Given the description of an element on the screen output the (x, y) to click on. 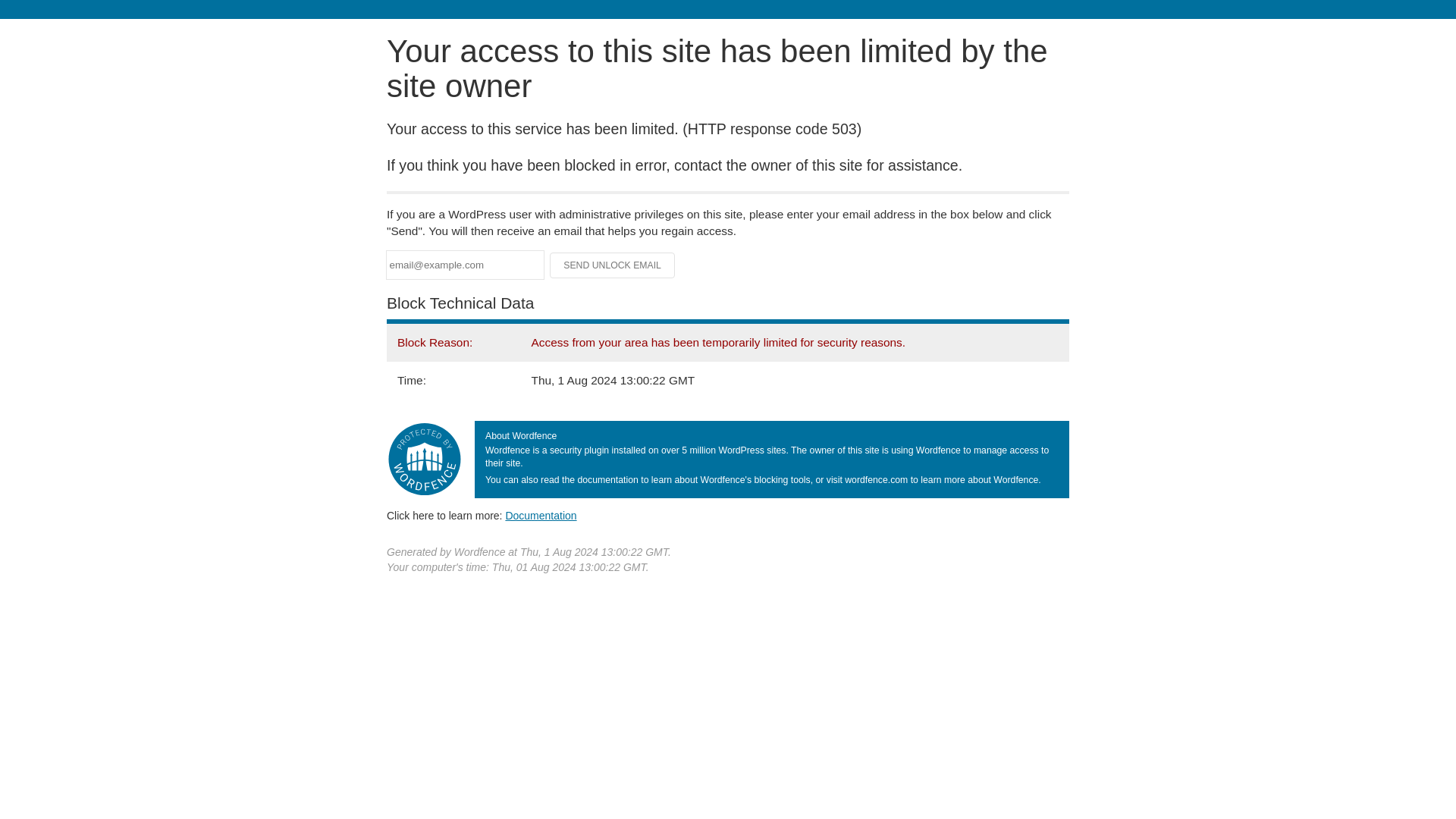
Send Unlock Email (612, 265)
Send Unlock Email (612, 265)
Documentation (540, 515)
